Given the description of an element on the screen output the (x, y) to click on. 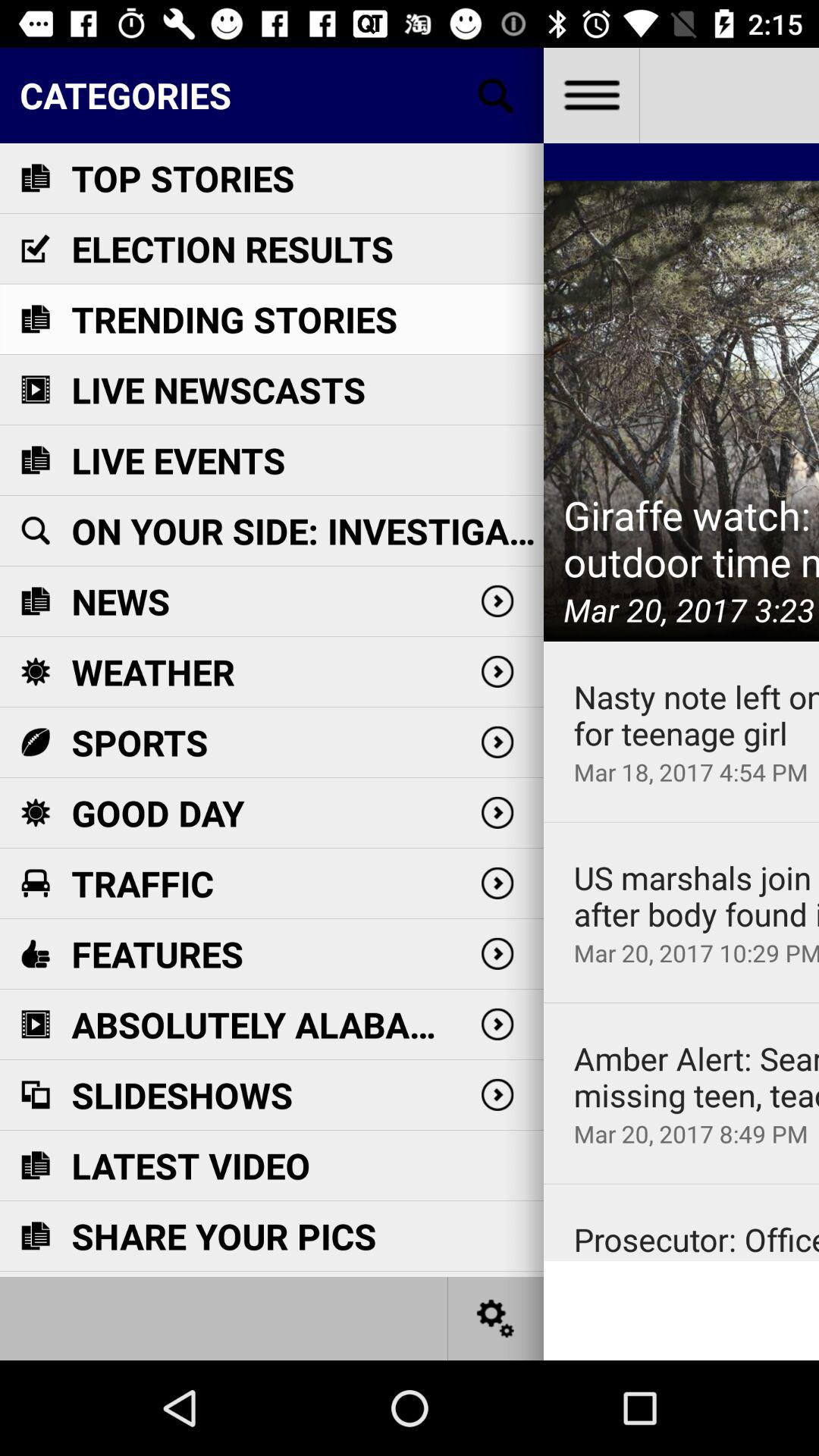
serch (495, 1318)
